Given the description of an element on the screen output the (x, y) to click on. 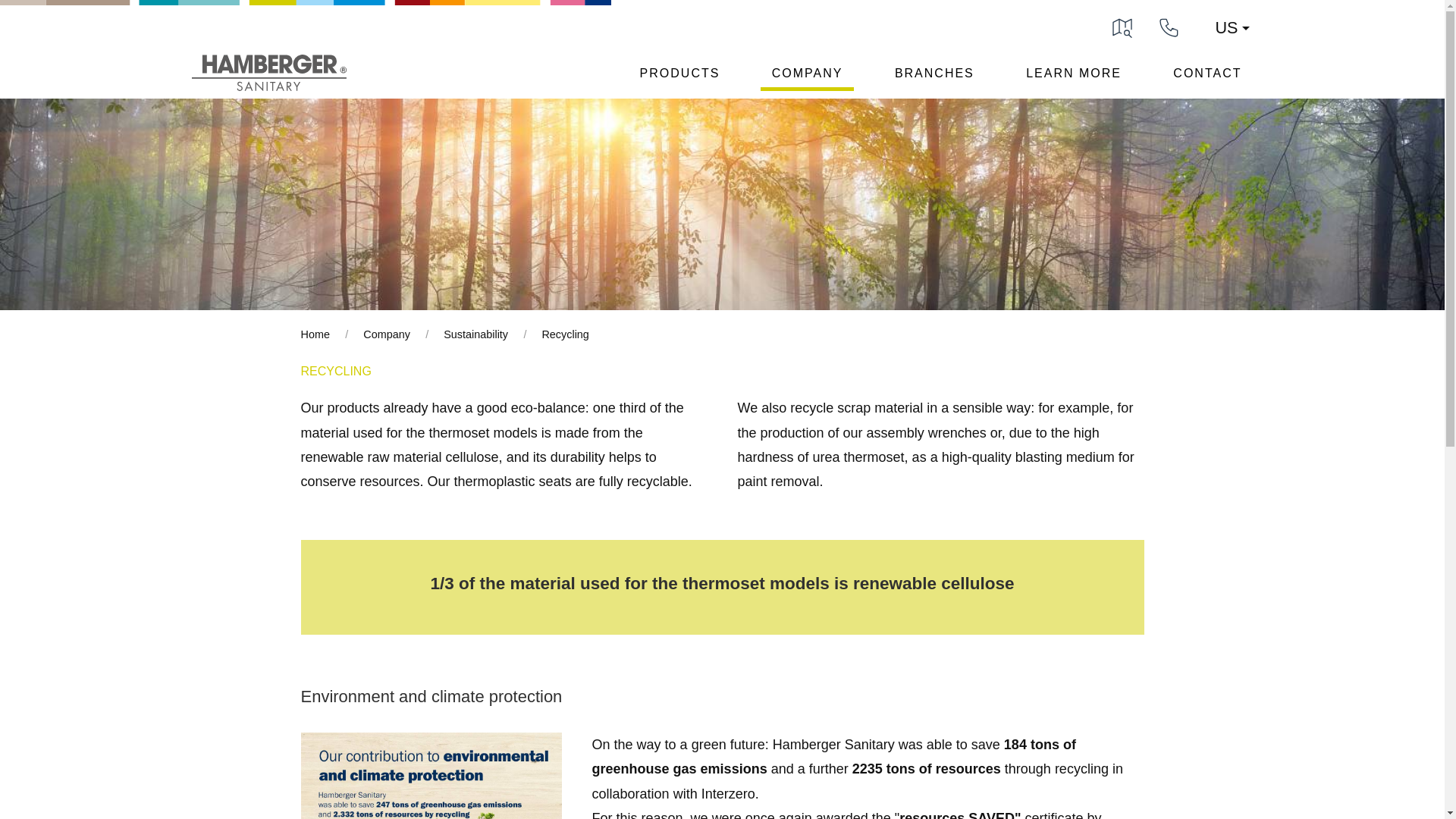
Company (386, 334)
Environment and climate protection (705, 696)
COMPANY (807, 77)
RECYCLING (705, 371)
BRANCHES (934, 77)
Give us a call (1168, 26)
LEARN MORE (1073, 77)
Home (314, 334)
CONTACT (1206, 77)
Find us (1121, 26)
PRODUCTS (680, 77)
